Given the description of an element on the screen output the (x, y) to click on. 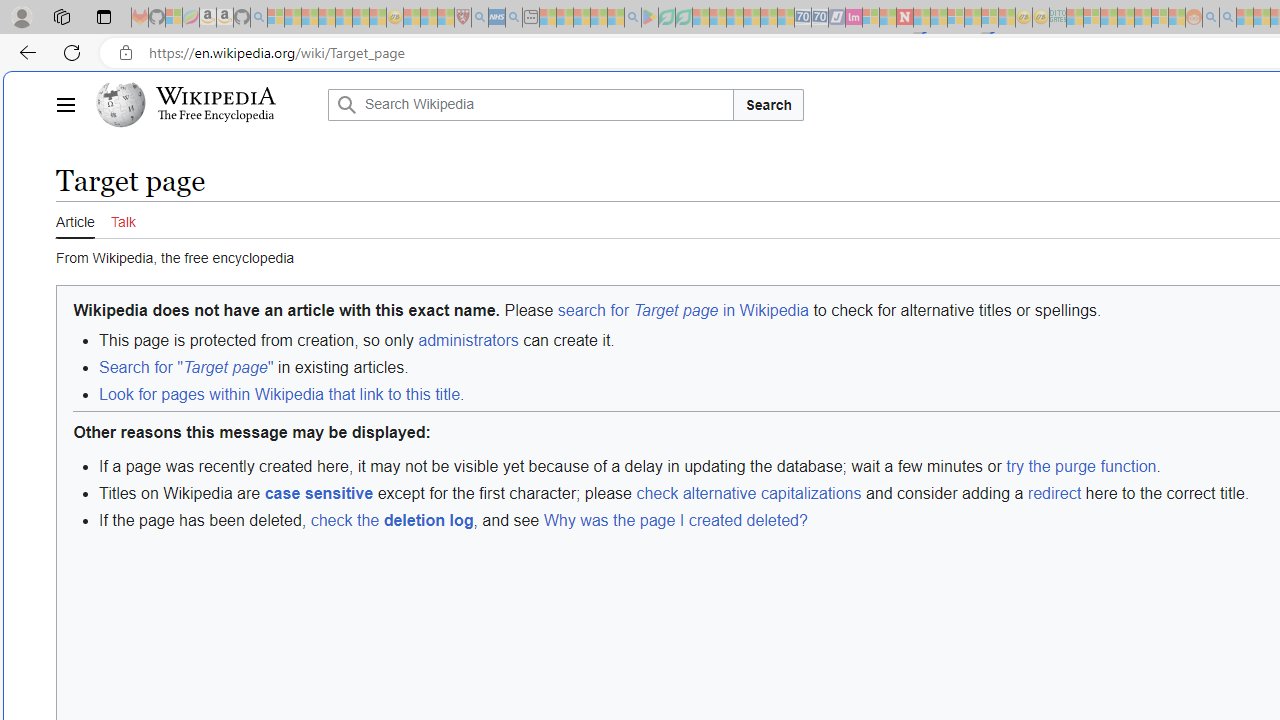
try the purge function (1081, 466)
search for Target page in Wikipedia (682, 309)
check the deletion log (391, 520)
list of asthma inhalers uk - Search - Sleeping (479, 17)
Kinda Frugal - MSN - Sleeping (1142, 17)
14 Common Myths Debunked By Scientific Facts - Sleeping (938, 17)
Bluey: Let's Play! - Apps on Google Play - Sleeping (649, 17)
google - Search - Sleeping (632, 17)
administrators (468, 340)
